Given the description of an element on the screen output the (x, y) to click on. 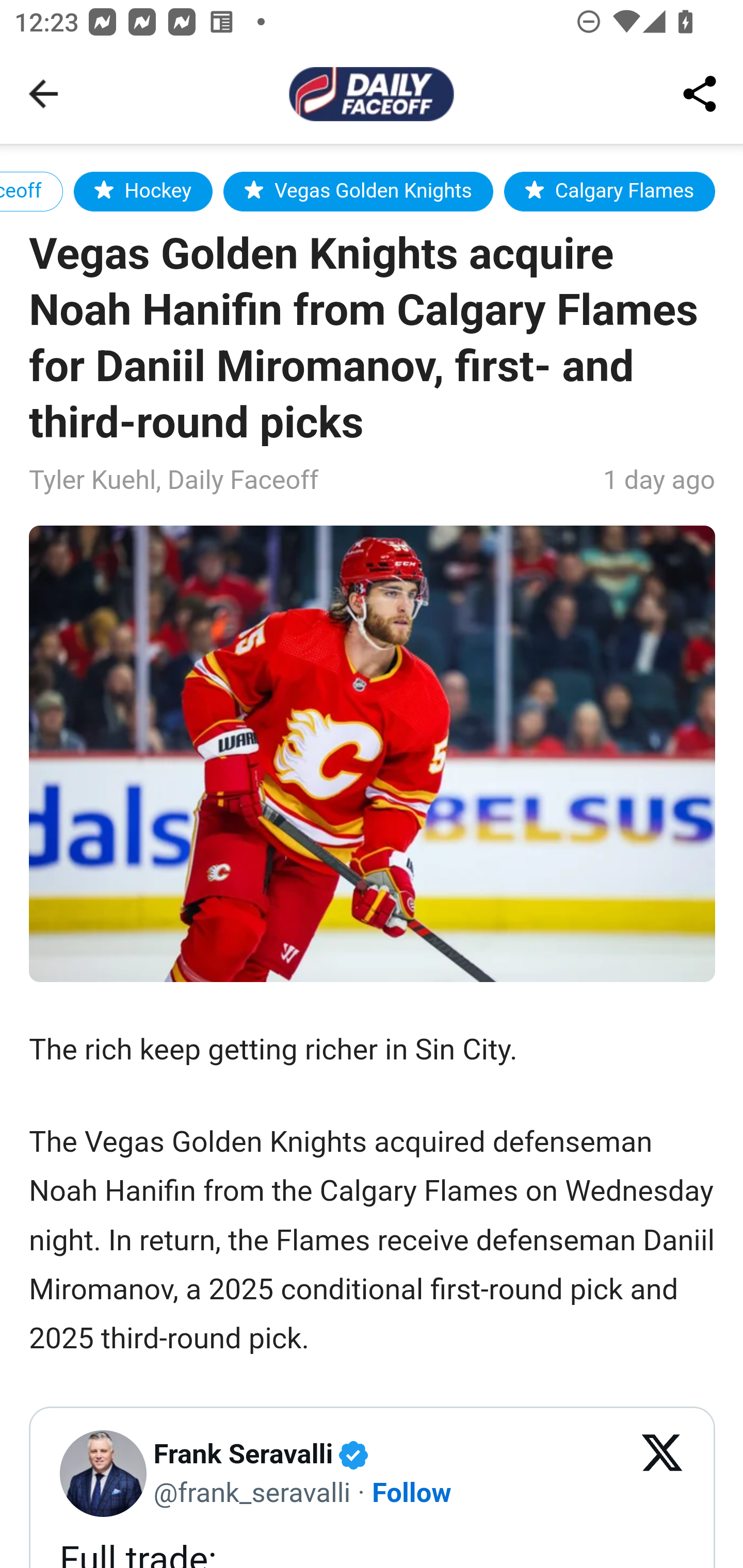
Hockey (142, 191)
Vegas Golden Knights (358, 191)
Calgary Flames (609, 191)
View on X (662, 1473)
@frank_seravalli (251, 1490)
Follow (412, 1490)
